Given the description of an element on the screen output the (x, y) to click on. 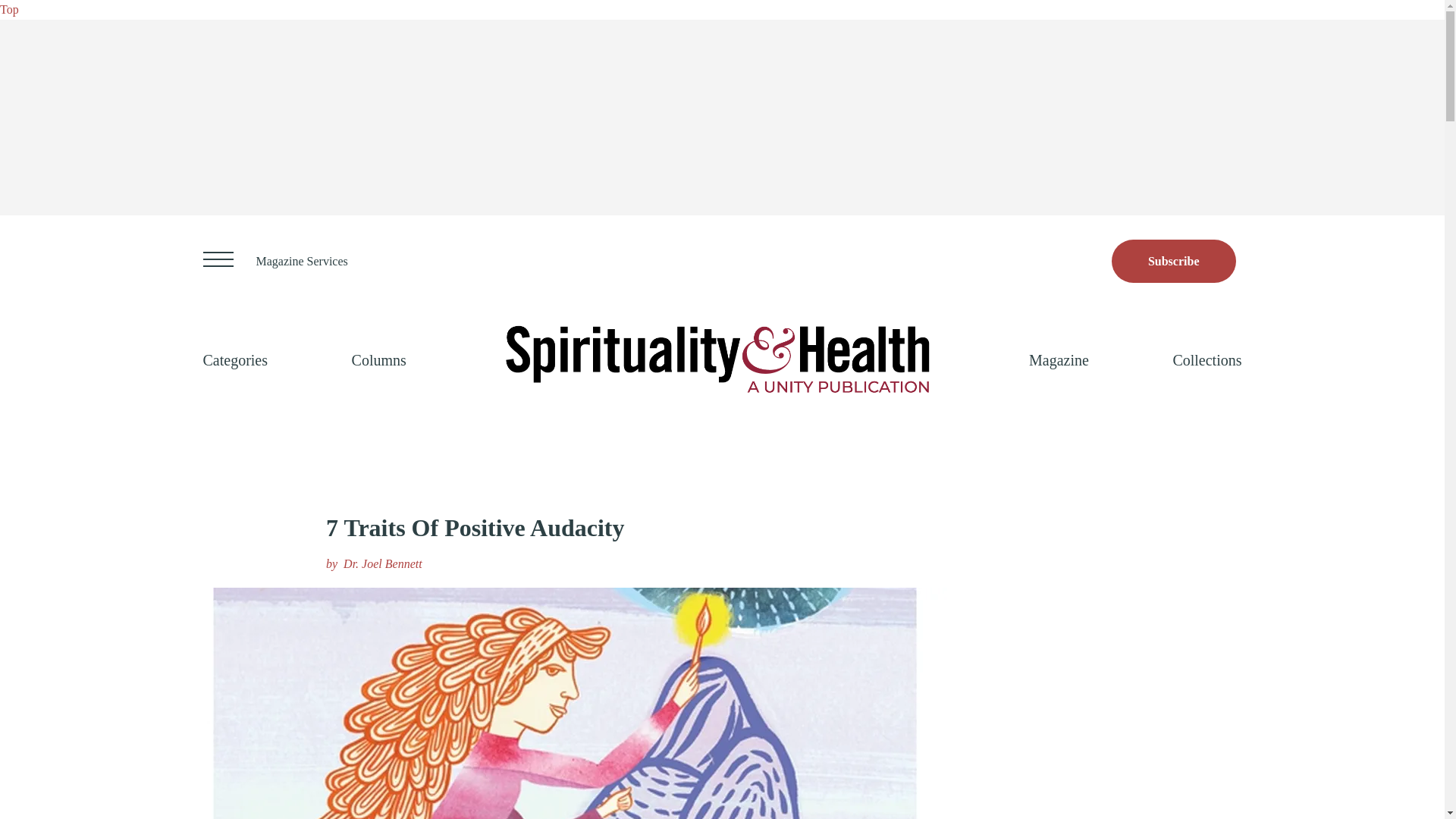
Magazine (1059, 359)
Subscribe (1174, 261)
Columns (379, 359)
Top (9, 9)
Opens to Store site (1174, 261)
Magazine Services (301, 260)
Collections (1206, 359)
Categories (235, 359)
